Given the description of an element on the screen output the (x, y) to click on. 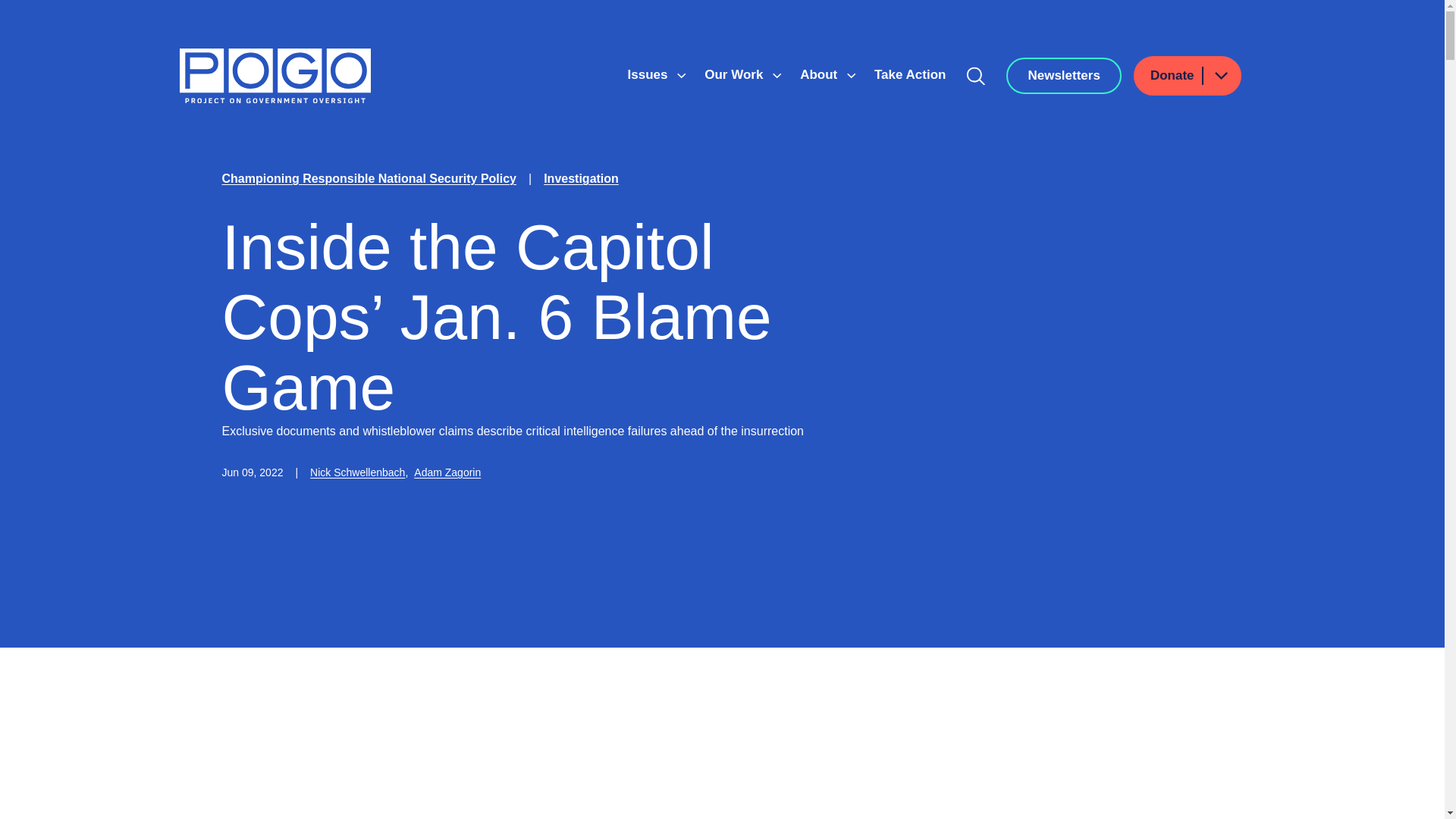
Newsletters (1063, 75)
Issues (649, 74)
Show submenu for About (851, 75)
Donate (1187, 75)
Search (976, 75)
Our Work (735, 74)
Home (274, 75)
Show submenu for Donate (1220, 75)
Take Action (909, 74)
Show submenu for Issues (681, 75)
About (820, 74)
Show submenu for Our Work (777, 75)
